Given the description of an element on the screen output the (x, y) to click on. 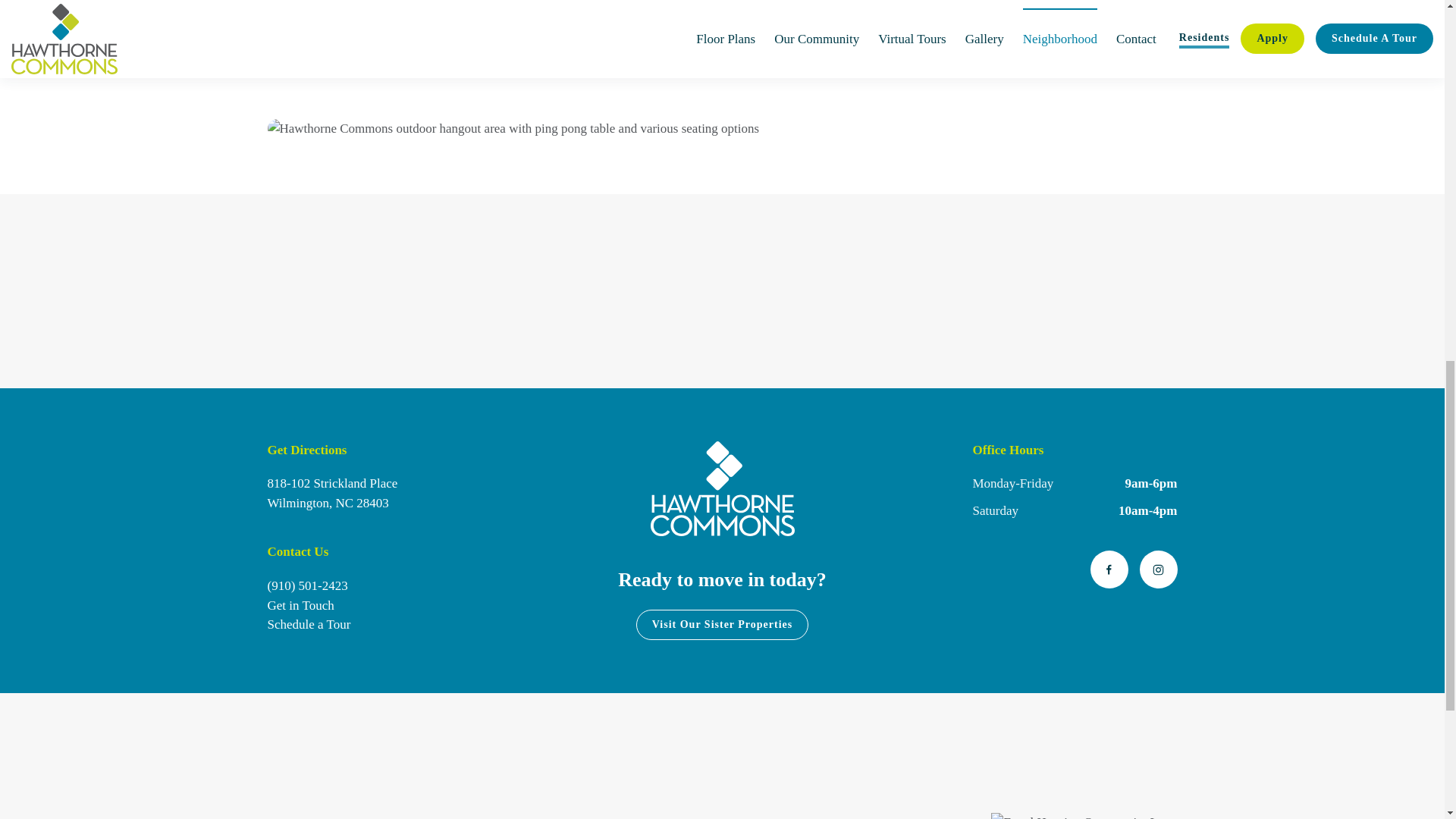
Visit Our Sister Properties (722, 624)
Schedule a Tour (331, 492)
Get in Touch (308, 624)
